Given the description of an element on the screen output the (x, y) to click on. 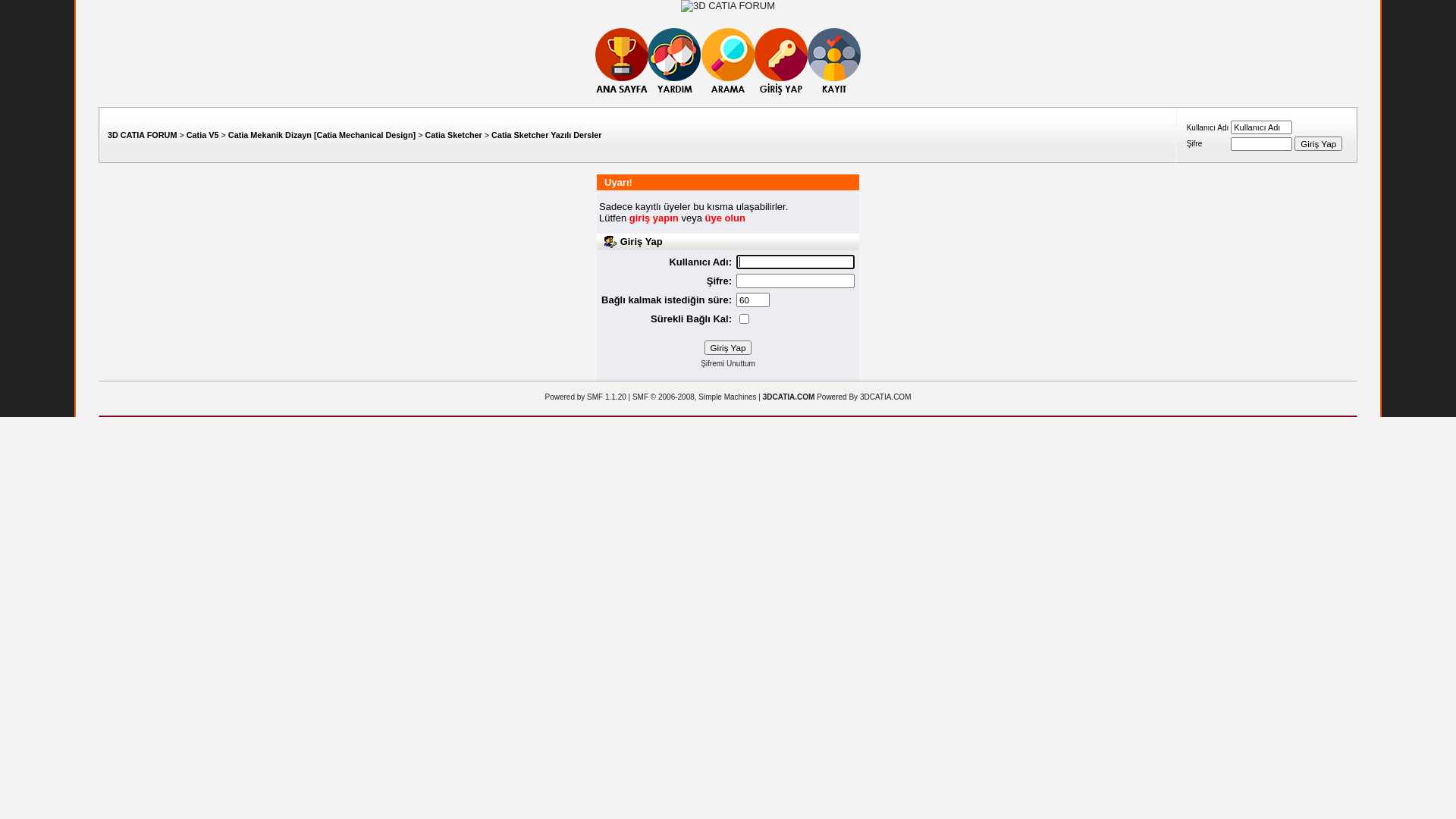
3D CATIA FORUM Element type: text (141, 134)
3DCATIA.COM Element type: text (885, 396)
Catia Mekanik Dizayn [Catia Mechanical Design] Element type: text (321, 134)
Catia V5 Element type: text (202, 134)
3DCATIA.COM Element type: text (788, 396)
Catia Sketcher Element type: text (453, 134)
on Element type: text (744, 318)
Powered by SMF 1.1.20 Element type: text (585, 396)
